Given the description of an element on the screen output the (x, y) to click on. 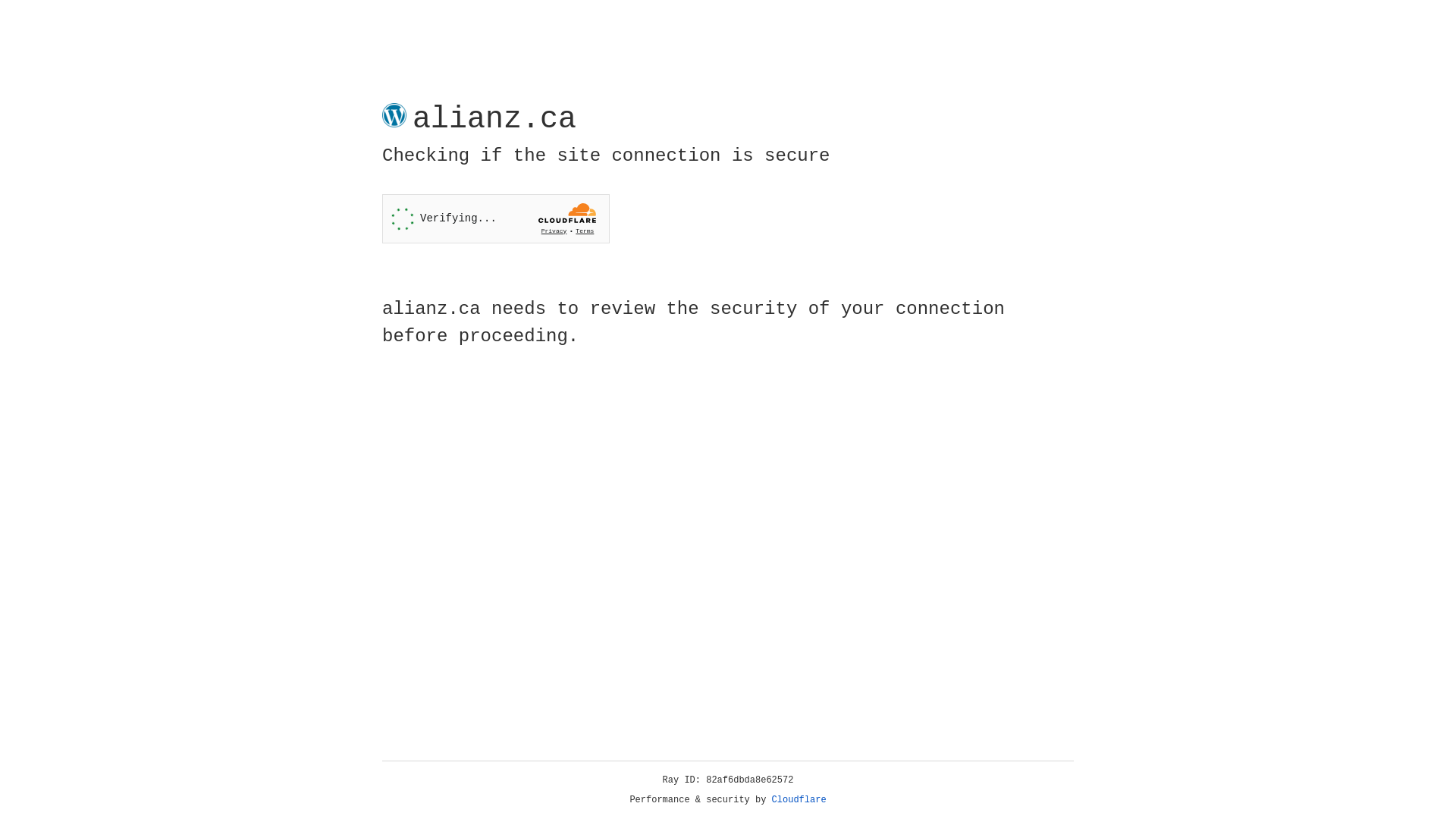
Widget containing a Cloudflare security challenge Element type: hover (495, 218)
Cloudflare Element type: text (798, 799)
